Given the description of an element on the screen output the (x, y) to click on. 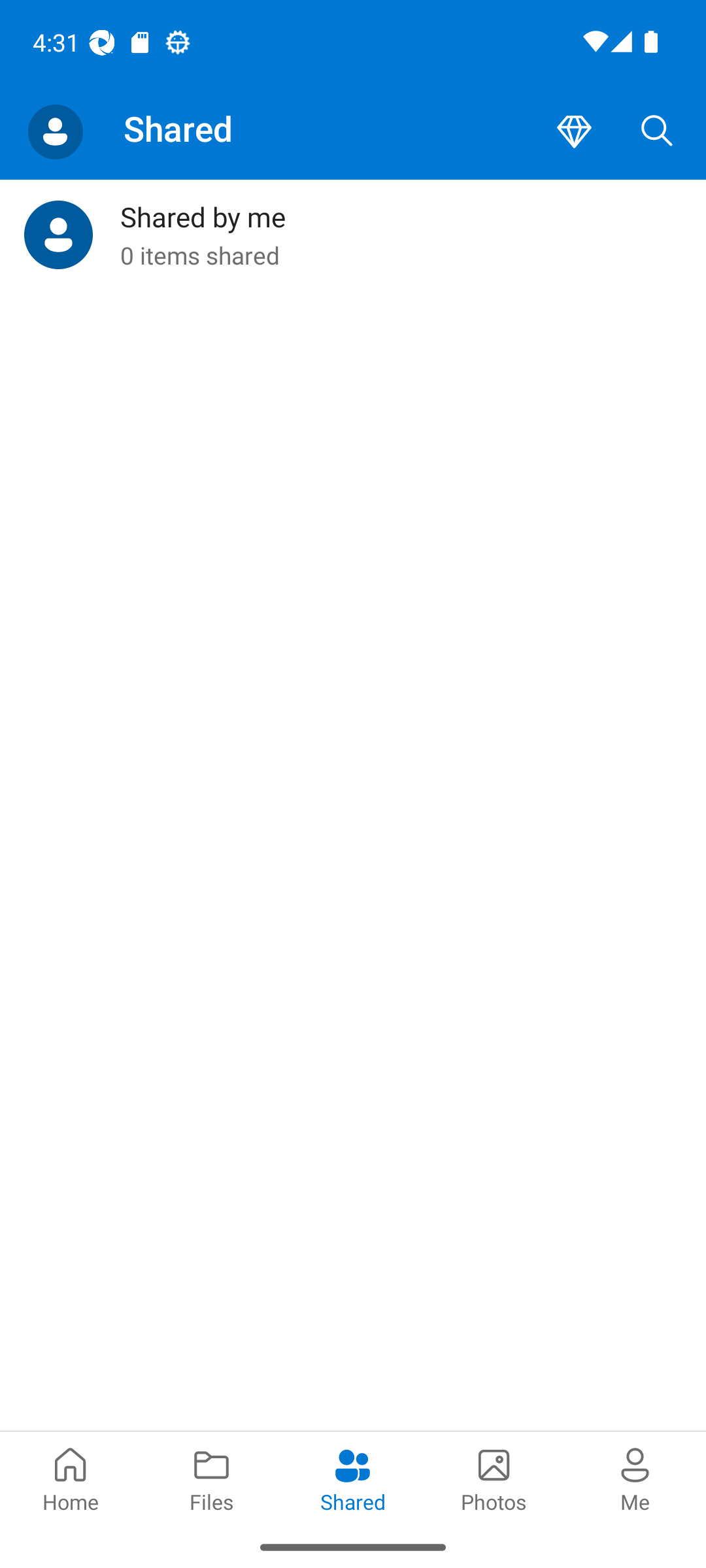
Account switcher (55, 131)
Premium button (574, 131)
Search button (656, 131)
0 Shared by me 0 items shared (353, 235)
Home pivot Home (70, 1478)
Files pivot Files (211, 1478)
Photos pivot Photos (493, 1478)
Me pivot Me (635, 1478)
